Given the description of an element on the screen output the (x, y) to click on. 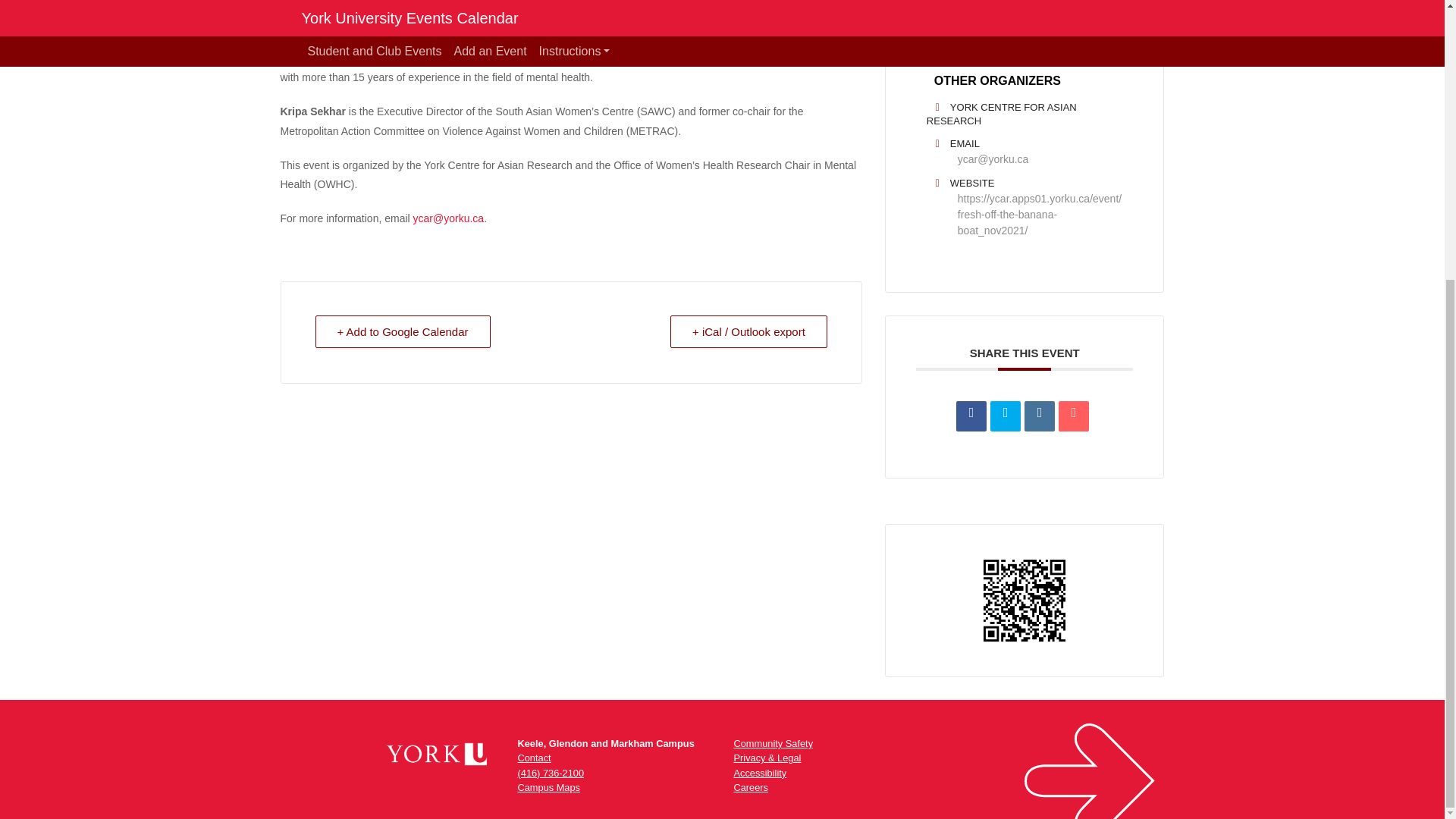
Email (1073, 416)
Contact (533, 757)
Linkedin (1039, 416)
Tweet (1005, 416)
Share on Facebook (971, 416)
Campus Maps (547, 787)
Community Safety (773, 743)
